Given the description of an element on the screen output the (x, y) to click on. 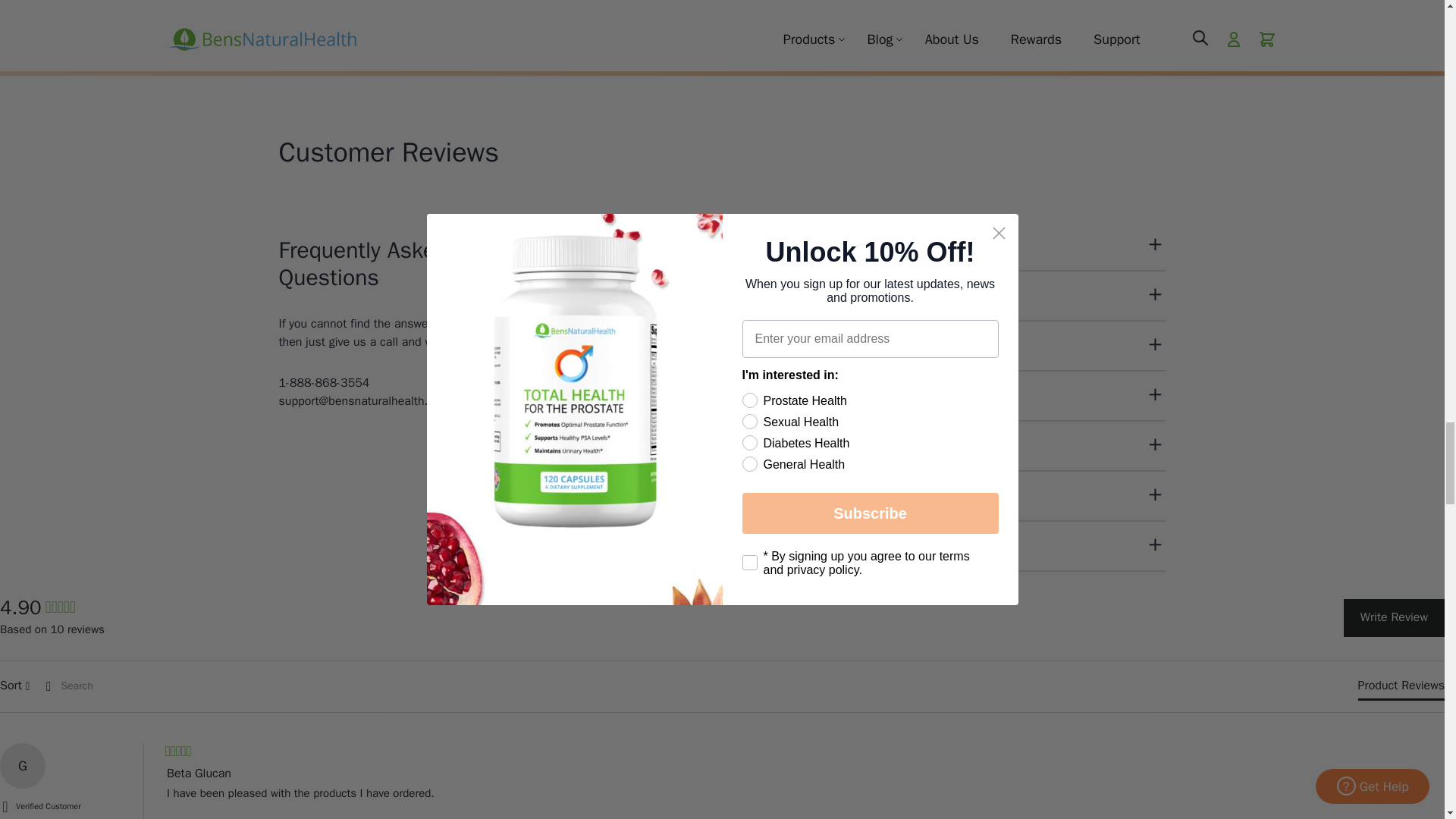
4.90 Stars (60, 608)
